Given the description of an element on the screen output the (x, y) to click on. 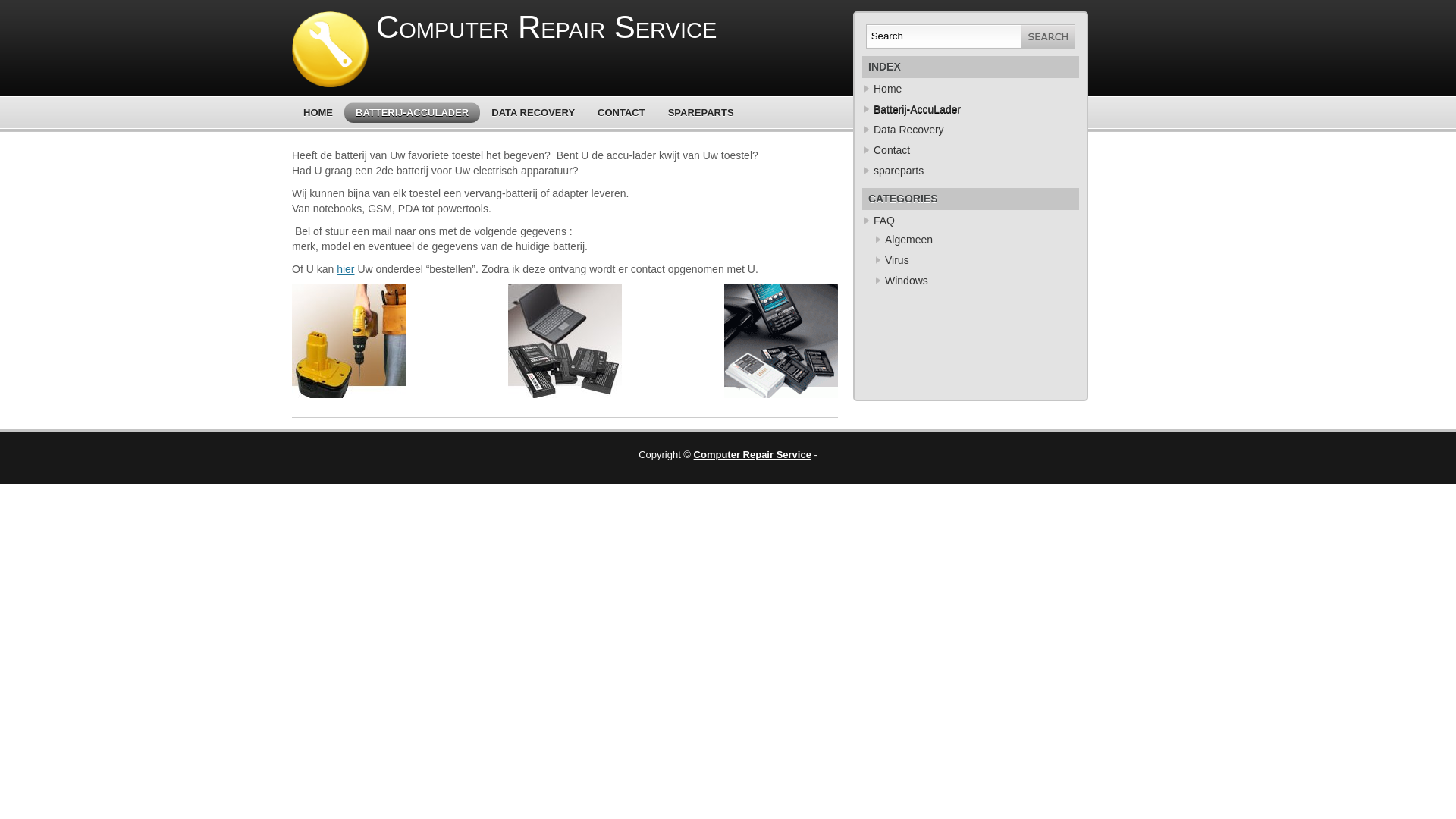
Powertoolbatterij Element type: hover (348, 341)
Algemeen Element type: text (908, 239)
CONTACT Element type: text (620, 112)
Windows Element type: text (906, 280)
Contact Element type: text (891, 150)
smartphonebatterij Element type: hover (780, 341)
notebookbatt Element type: hover (564, 341)
Computer Repair Service Element type: text (752, 454)
HOME Element type: text (317, 112)
hier Element type: text (345, 269)
SPAREPARTS Element type: text (700, 112)
Batterij-AccuLader Element type: text (916, 109)
DATA RECOVERY Element type: text (532, 112)
Computer Repair Service Element type: text (546, 26)
spareparts Element type: text (898, 170)
Virus Element type: text (896, 260)
BATTERIJ-ACCULADER Element type: text (412, 112)
Home Element type: text (887, 88)
FAQ Element type: text (883, 220)
Data Recovery Element type: text (908, 129)
